Given the description of an element on the screen output the (x, y) to click on. 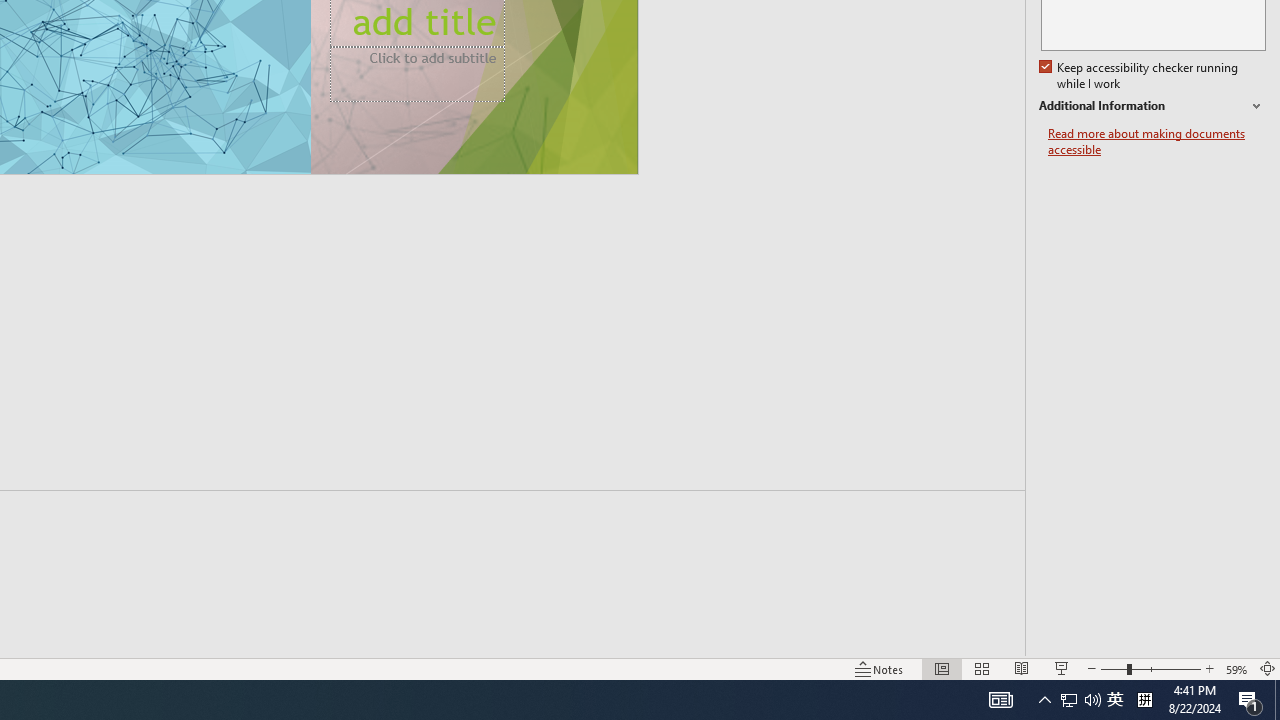
Something.md (1192, 259)
Poe (201, 687)
edit (1192, 126)
Notion (333, 687)
